Given the description of an element on the screen output the (x, y) to click on. 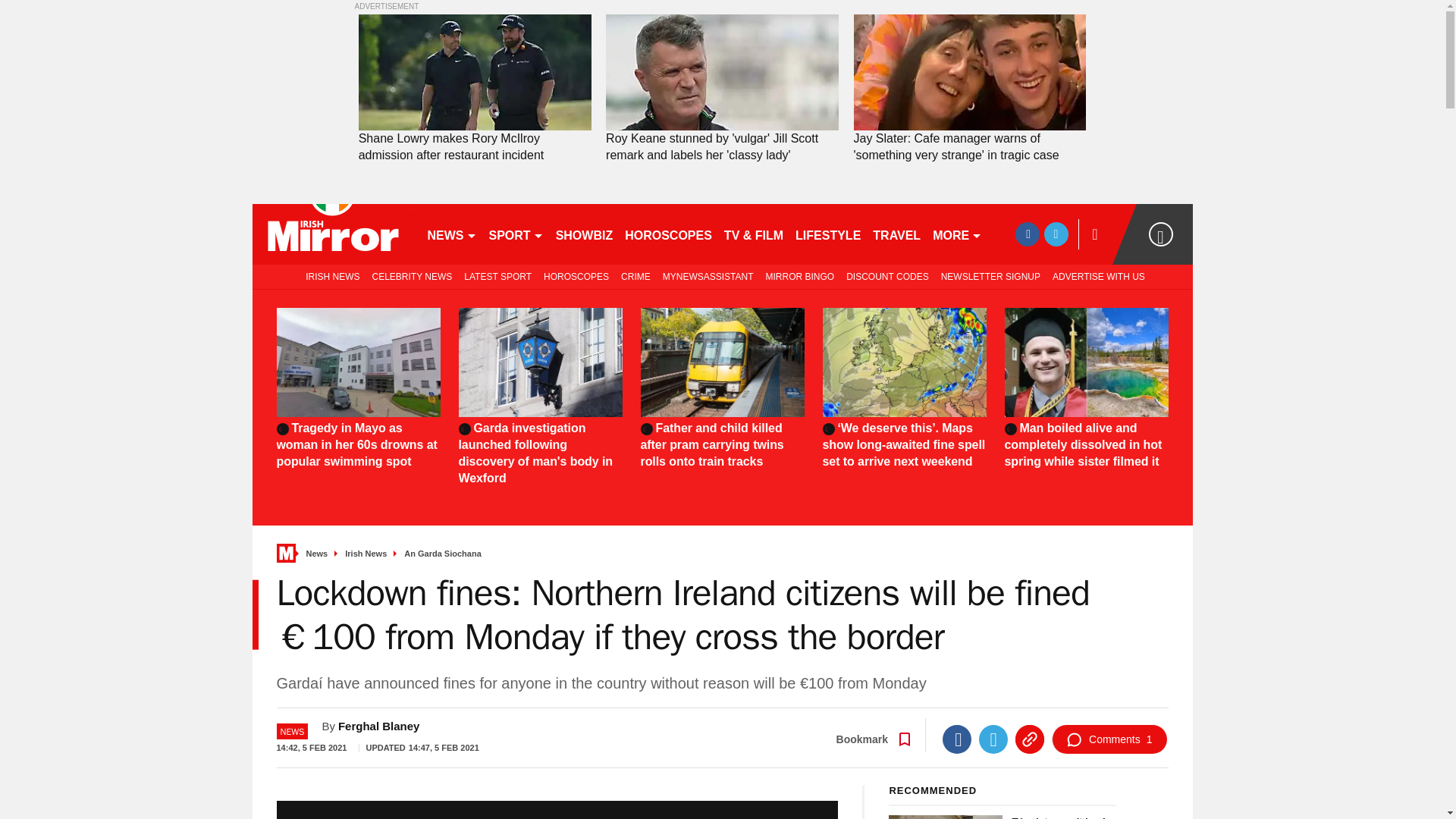
Twitter (992, 738)
SHOWBIZ (585, 233)
facebook (1026, 233)
LIFESTYLE (827, 233)
twitter (1055, 233)
MORE (957, 233)
TRAVEL (896, 233)
SPORT (514, 233)
IRISH NEWS (329, 275)
Facebook (956, 738)
